Given the description of an element on the screen output the (x, y) to click on. 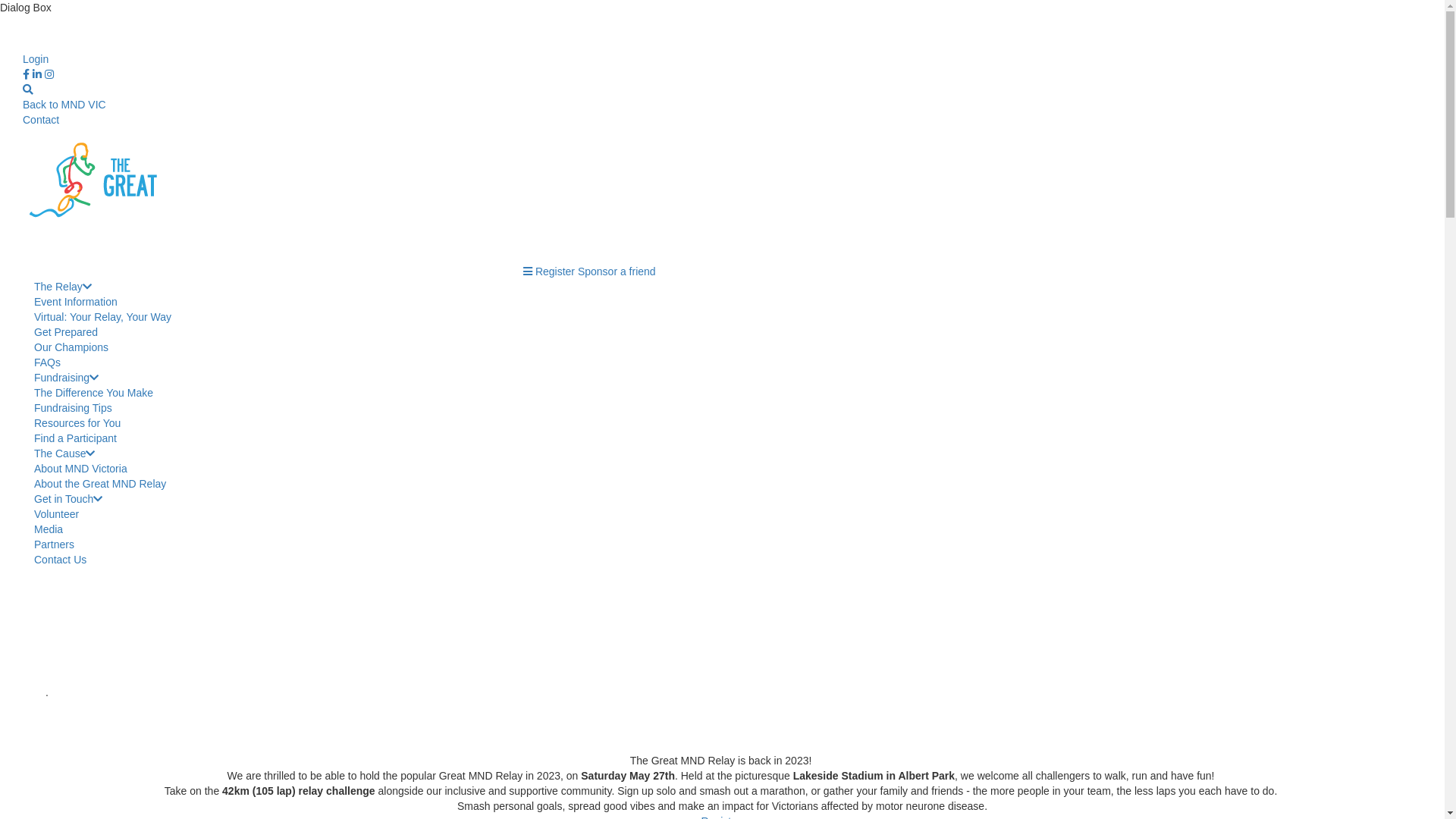
Event Information Element type: text (75, 301)
Fundraising Tips Element type: text (73, 407)
Resources for You Element type: text (77, 423)
About MND Victoria Element type: text (80, 468)
Contact Element type: text (40, 119)
Back to MND VIC Element type: text (64, 104)
Partners Element type: text (54, 544)
FAQs Element type: text (47, 362)
Find a Participant Element type: text (75, 438)
Contact Us Element type: text (60, 559)
Media Element type: text (48, 529)
Get in Touch Element type: text (68, 498)
Sponsor a friend Element type: text (616, 271)
Fundraising Element type: text (66, 377)
Login Element type: text (35, 59)
Volunteer Element type: text (56, 514)
Our Champions Element type: text (71, 347)
The Difference You Make Element type: text (93, 392)
The Cause Element type: text (64, 453)
Virtual: Your Relay, Your Way Element type: text (102, 316)
The Relay Element type: text (62, 286)
Get Prepared Element type: text (65, 332)
About the Great MND Relay Element type: text (100, 483)
Register Element type: text (554, 271)
